Given the description of an element on the screen output the (x, y) to click on. 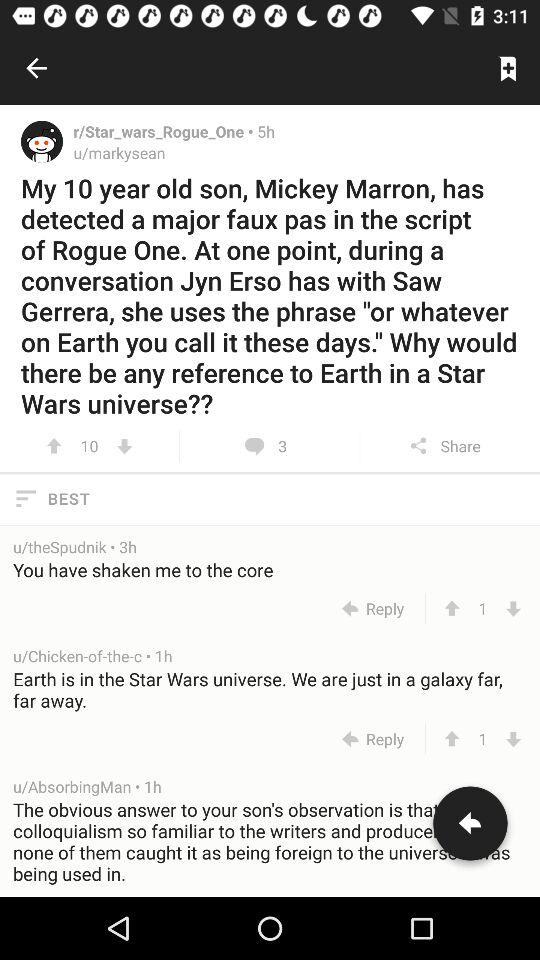
share (470, 827)
